Given the description of an element on the screen output the (x, y) to click on. 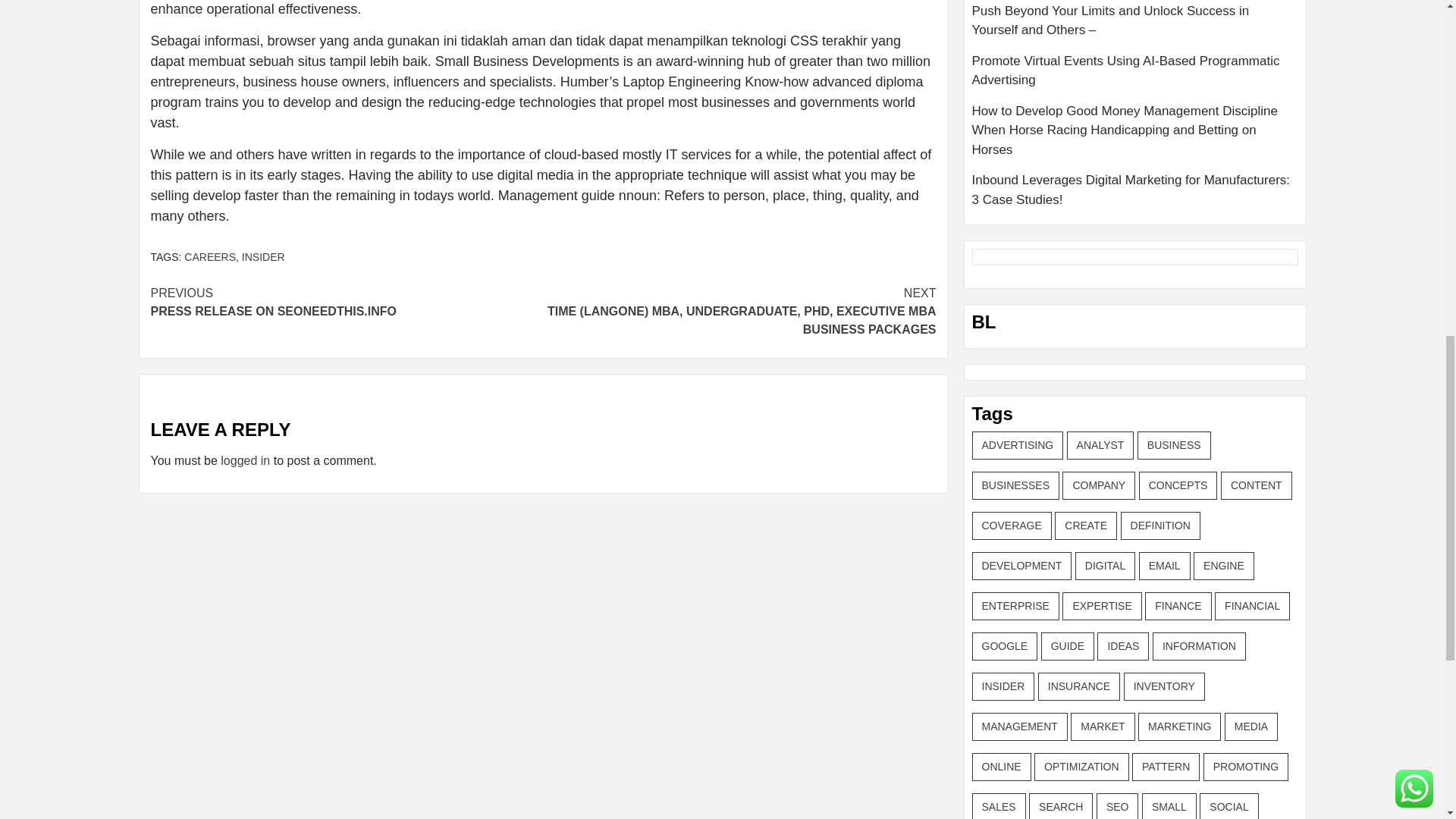
logged in (245, 460)
CAREERS (209, 256)
INSIDER (263, 256)
